Given the description of an element on the screen output the (x, y) to click on. 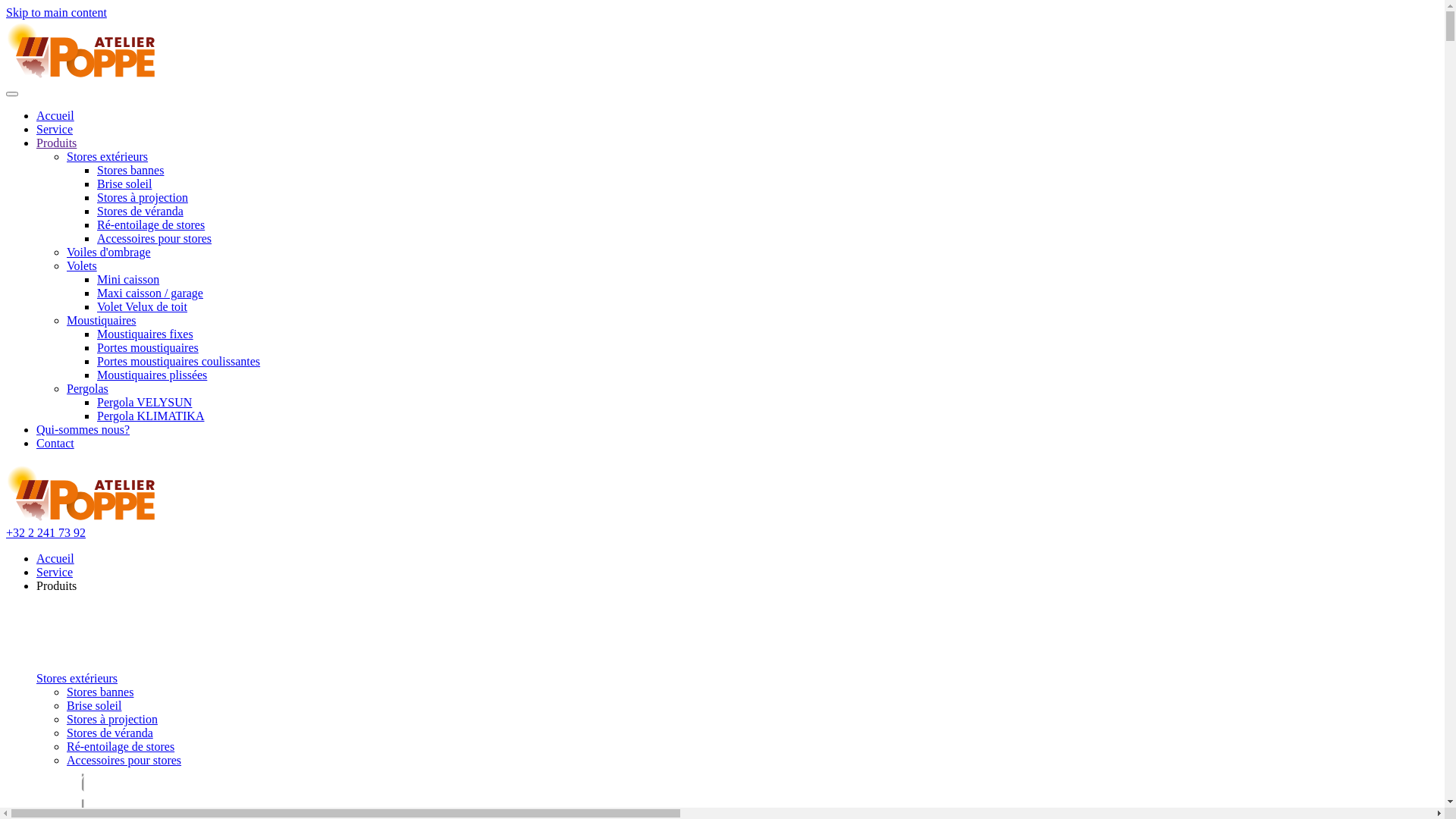
Voiles d'ombrage Element type: text (108, 251)
Contact Element type: text (55, 442)
Skip to main content Element type: text (56, 12)
Portes moustiquaires Element type: text (147, 347)
Accueil Element type: text (55, 115)
Moustiquaires Element type: text (101, 319)
Maxi caisson / garage Element type: text (150, 292)
Pergola VELYSUN Element type: text (144, 401)
Qui-sommes nous? Element type: text (82, 429)
Brise soleil Element type: text (93, 705)
Stores bannes Element type: text (130, 169)
Stores bannes Element type: text (99, 691)
Accessoires pour stores Element type: text (154, 238)
Produits Element type: text (56, 585)
Portes moustiquaires coulissantes Element type: text (178, 360)
Mini caisson Element type: text (128, 279)
Accessoires pour stores Element type: text (123, 759)
+32 2 241 73 92 Element type: text (45, 532)
Volets Element type: text (81, 265)
Service Element type: text (54, 128)
Pergolas Element type: text (87, 388)
Produits Element type: text (56, 142)
Service Element type: text (54, 571)
Accueil Element type: text (55, 558)
Moustiquaires fixes Element type: text (145, 333)
Brise soleil Element type: text (124, 183)
Pergola KLIMATIKA Element type: text (150, 415)
Volet Velux de toit Element type: text (142, 306)
